Given the description of an element on the screen output the (x, y) to click on. 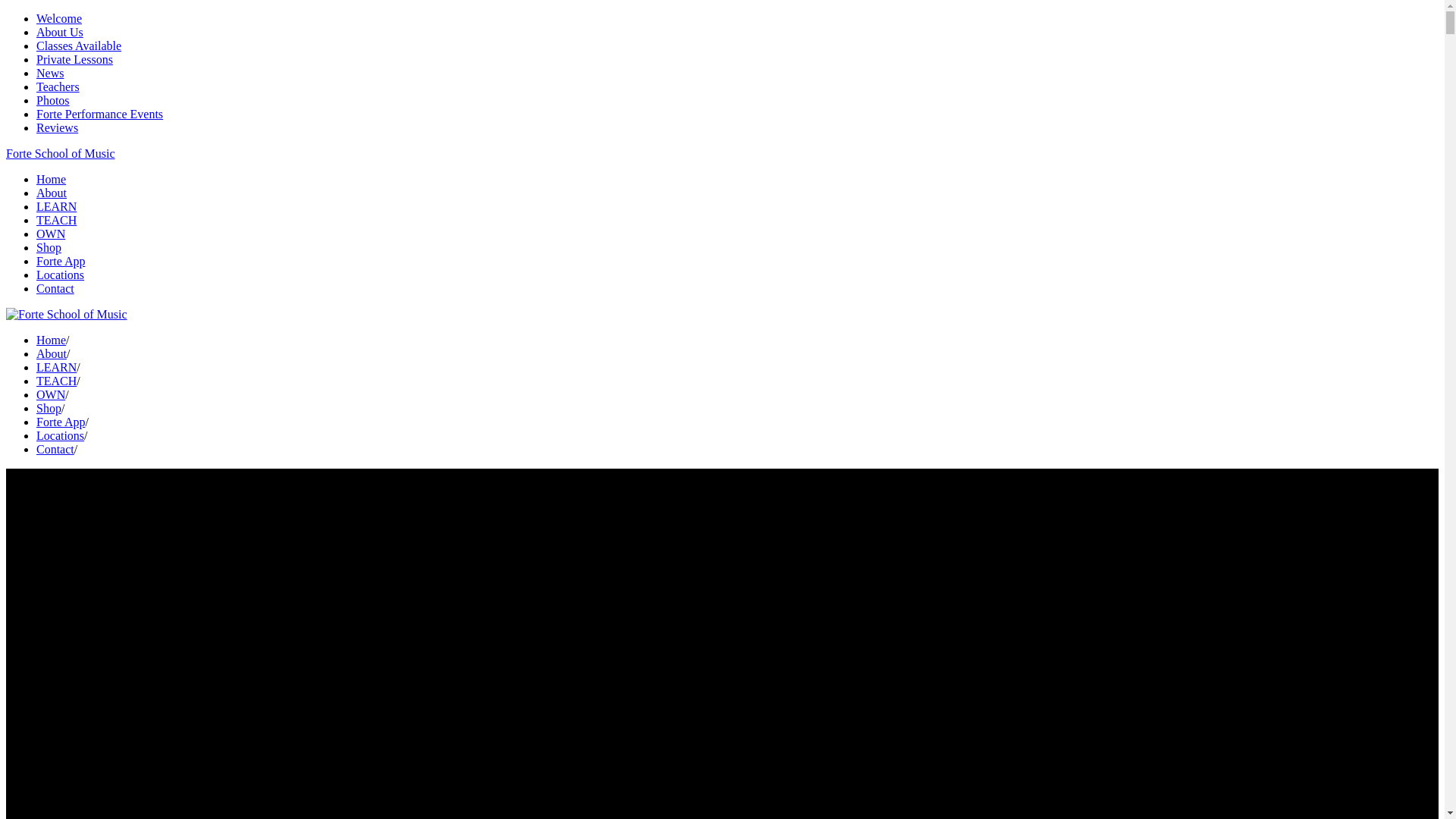
Forte Performance Events Element type: text (99, 113)
Home Element type: text (50, 178)
Photos Element type: text (52, 100)
Welcome Element type: text (58, 18)
Forte App Element type: text (60, 421)
Forte School of Music Element type: text (60, 153)
OWN Element type: text (50, 394)
About Element type: text (51, 353)
TEACH Element type: text (56, 380)
Reviews Element type: text (57, 127)
LEARN Element type: text (56, 366)
LEARN Element type: text (56, 206)
Locations Element type: text (60, 435)
About Us Element type: text (59, 31)
TEACH Element type: text (56, 219)
Forte App Element type: text (60, 260)
Shop Element type: text (48, 247)
Locations Element type: text (60, 274)
Contact Element type: text (55, 448)
Contact Element type: text (55, 288)
Teachers Element type: text (57, 86)
Private Lessons Element type: text (74, 59)
Shop Element type: text (48, 407)
Classes Available Element type: text (78, 45)
OWN Element type: text (50, 233)
Home Element type: text (50, 339)
About Element type: text (51, 192)
News Element type: text (49, 72)
